Given the description of an element on the screen output the (x, y) to click on. 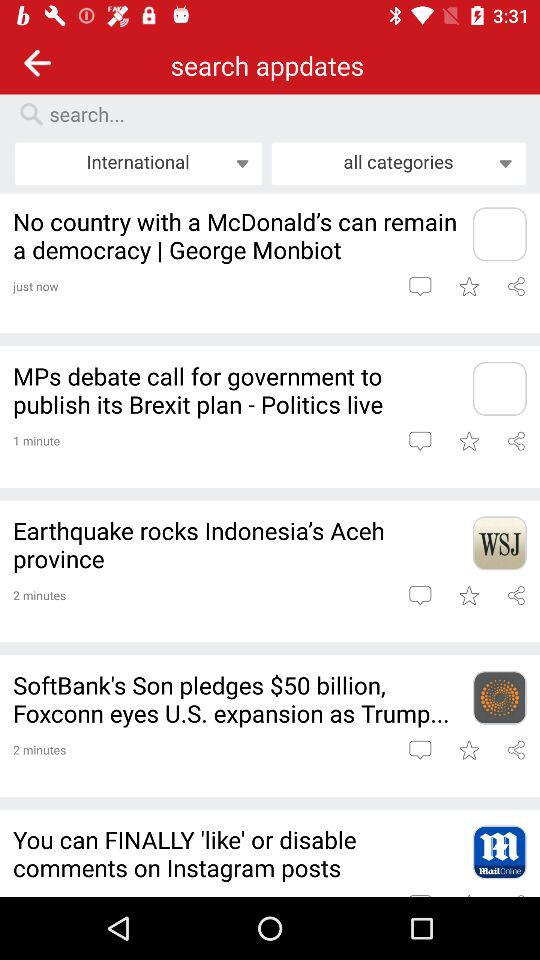
turn on icon above international (279, 113)
